Given the description of an element on the screen output the (x, y) to click on. 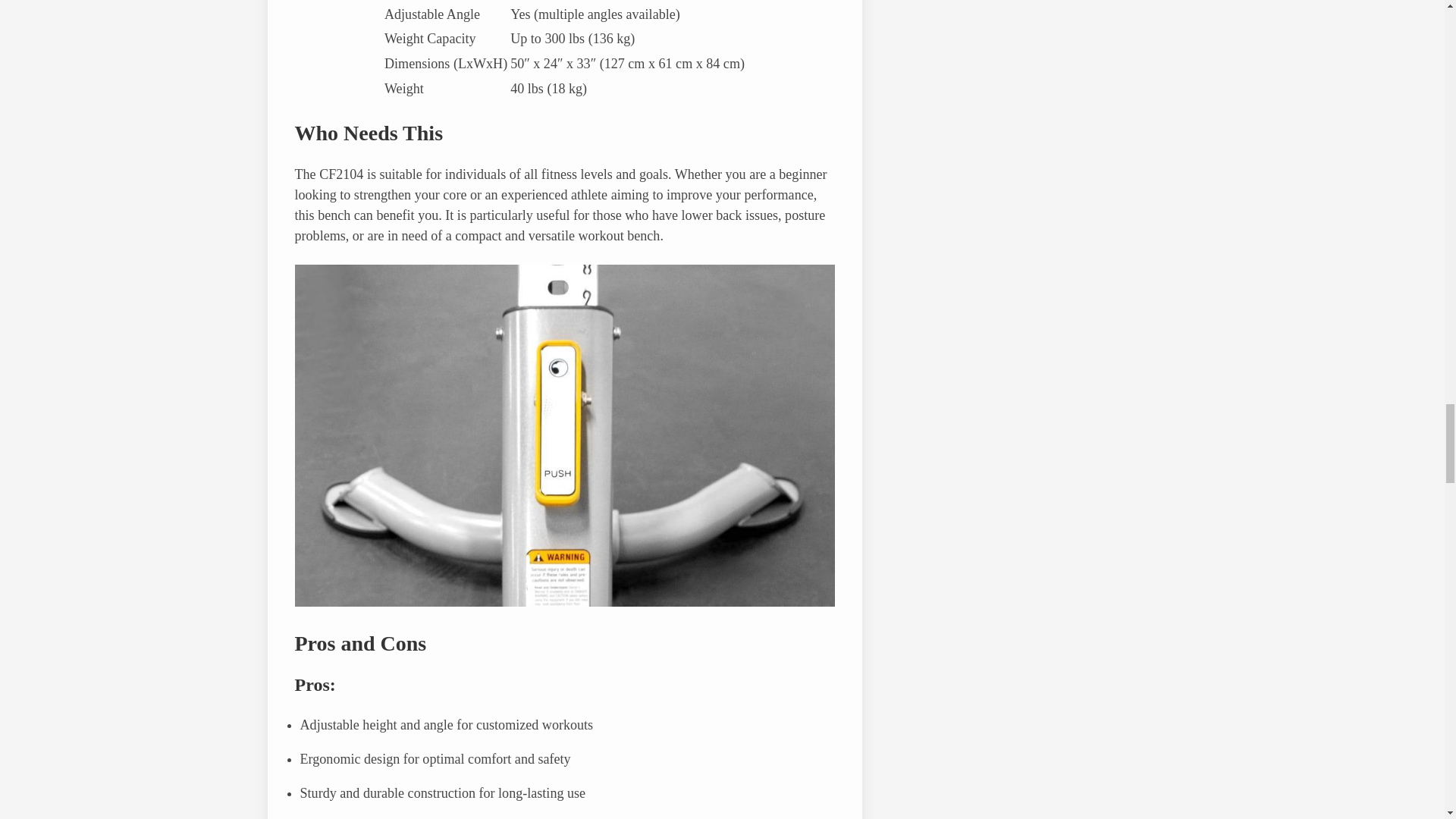
Elite Series - Hyper Extension Bench - CF2104 (564, 601)
